Given the description of an element on the screen output the (x, y) to click on. 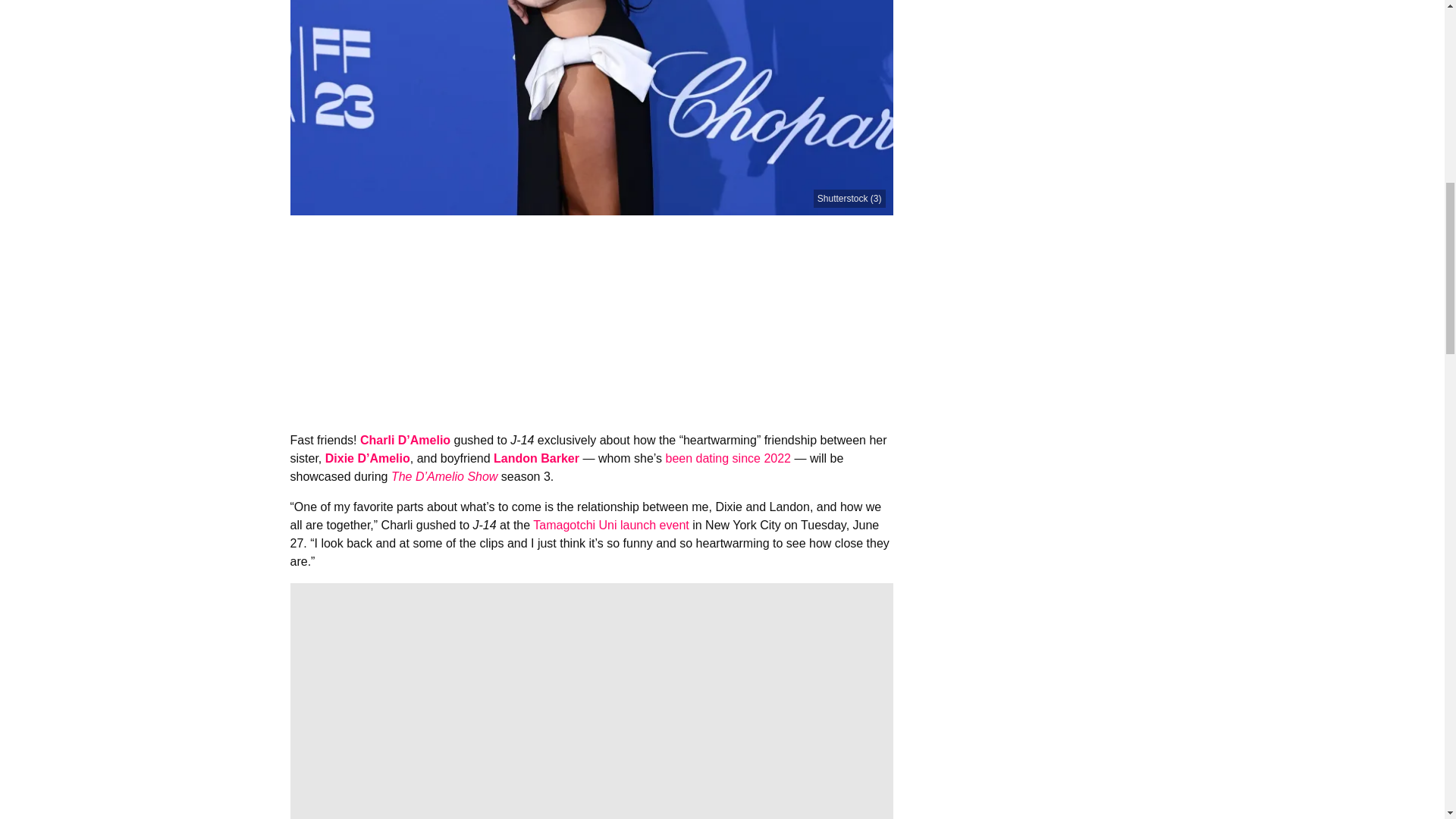
Tamagotchi Uni launch event (610, 524)
Landon Barker (536, 458)
been dating since 2022 (727, 458)
